Given the description of an element on the screen output the (x, y) to click on. 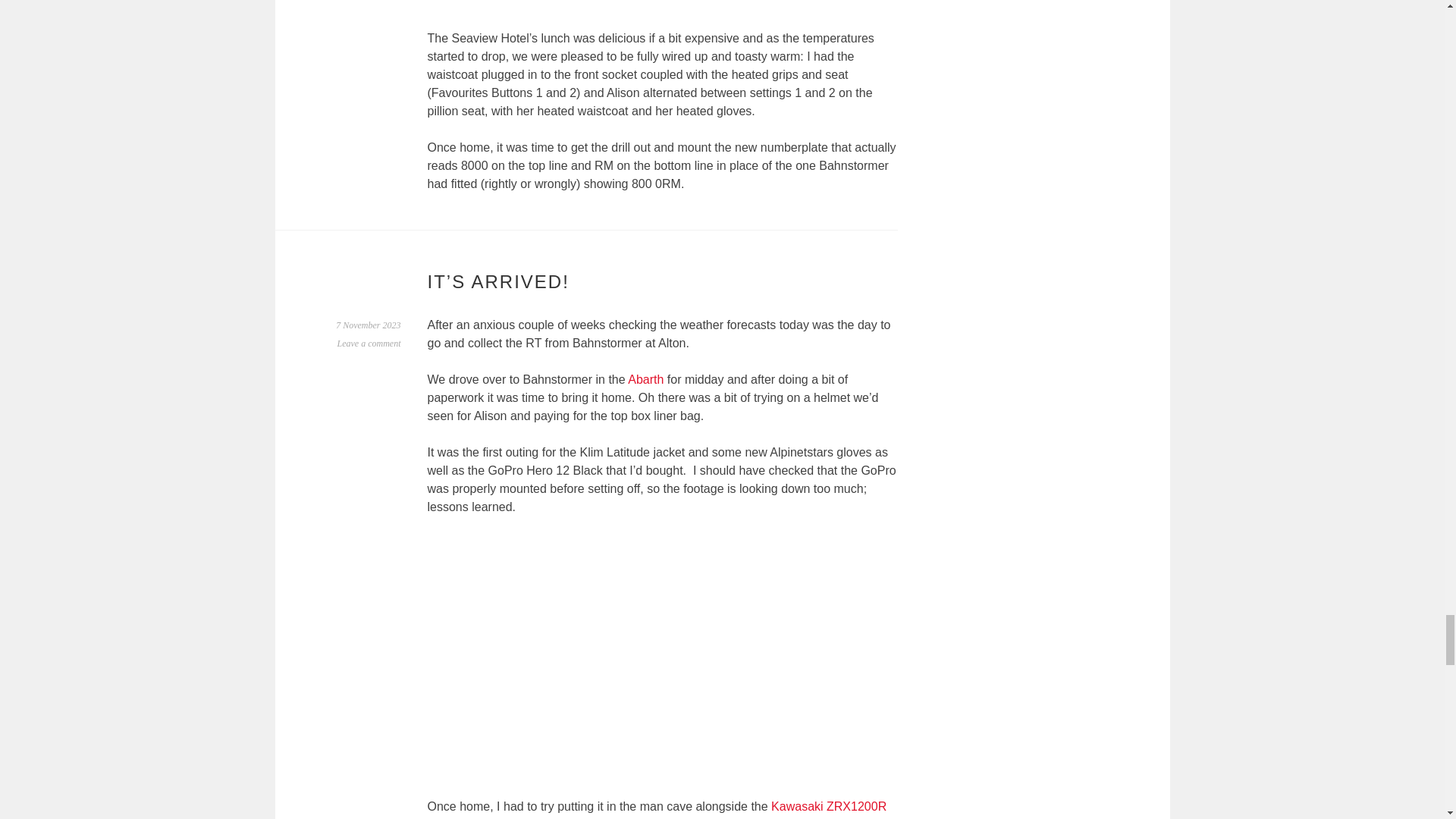
YouTube player (662, 14)
YouTube player (662, 665)
